Given the description of an element on the screen output the (x, y) to click on. 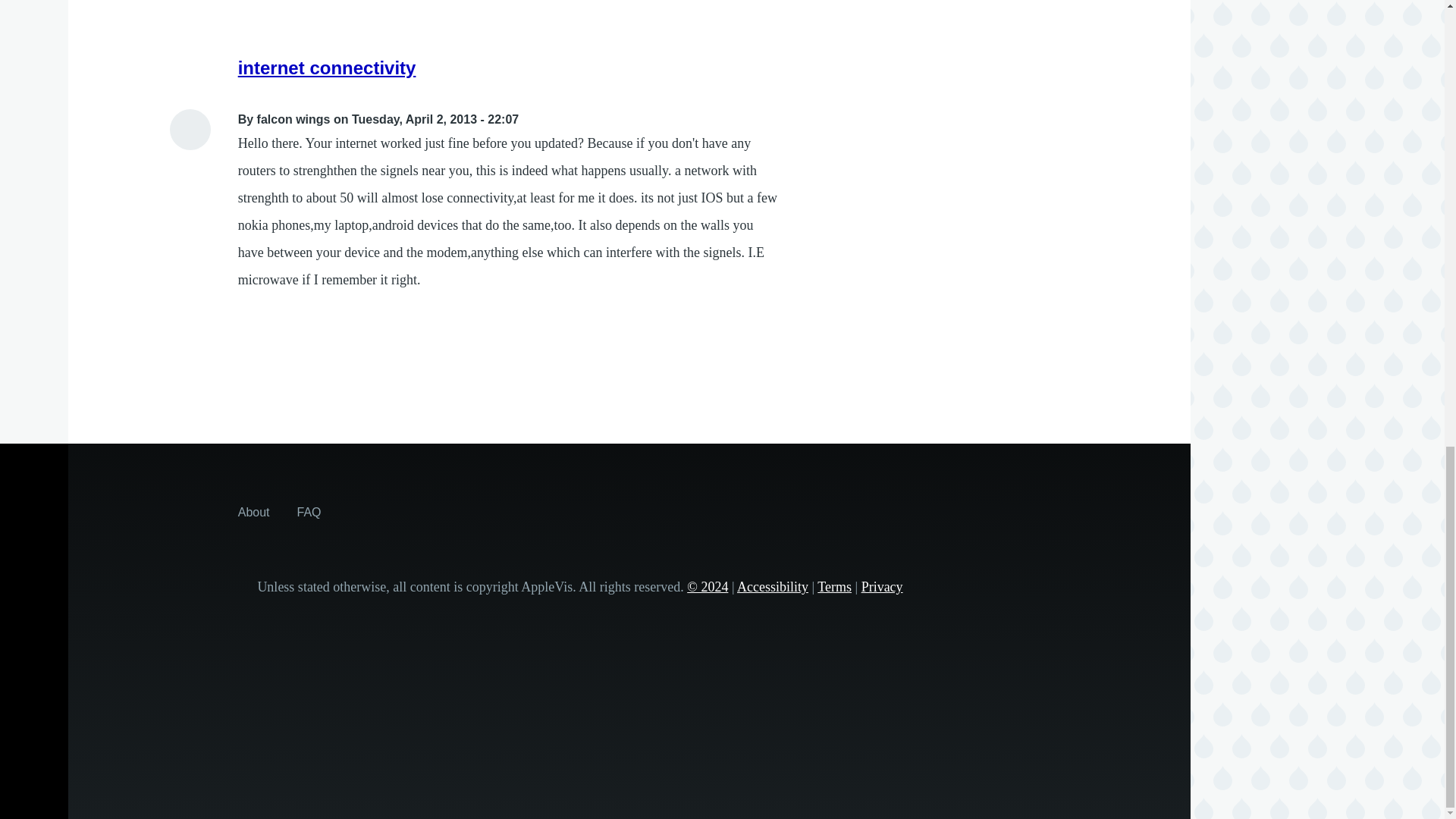
About (253, 511)
Terms (833, 586)
internet connectivity (327, 67)
Accessibility (772, 586)
About (253, 511)
Privacy (881, 586)
